Given the description of an element on the screen output the (x, y) to click on. 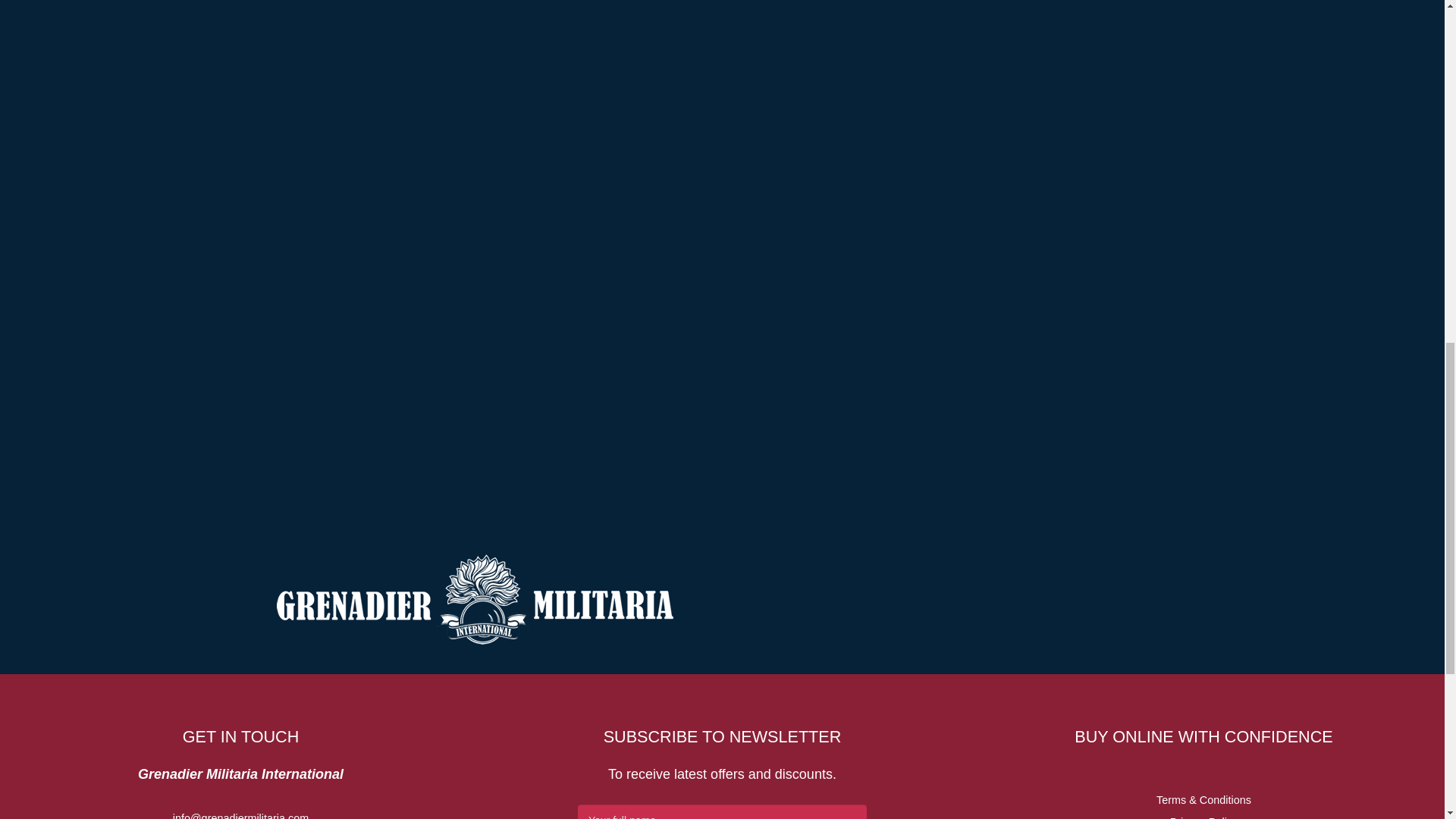
PayPal (659, 257)
Customer reviews powered by Trustpilot (659, 2)
Add to basket (659, 144)
PayPal Message 1 (659, 213)
